Given the description of an element on the screen output the (x, y) to click on. 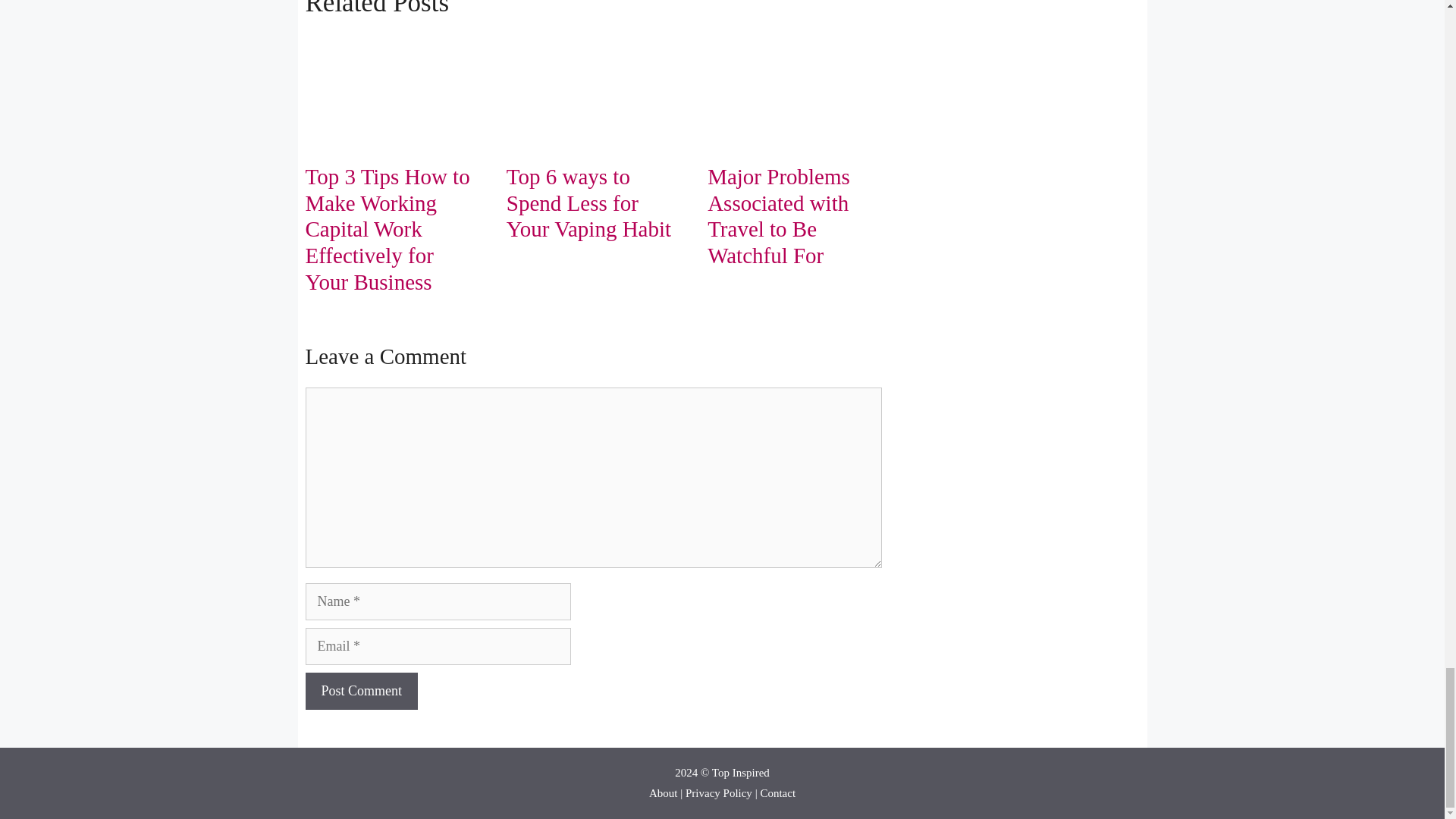
Post Comment (360, 691)
About (663, 793)
Major Problems Associated with Travel to Be Watchful For (778, 215)
Privacy Policy (718, 793)
Post Comment (360, 691)
Top 6 ways to Spend Less for Your Vaping Habit (588, 202)
Contact (777, 793)
